Given the description of an element on the screen output the (x, y) to click on. 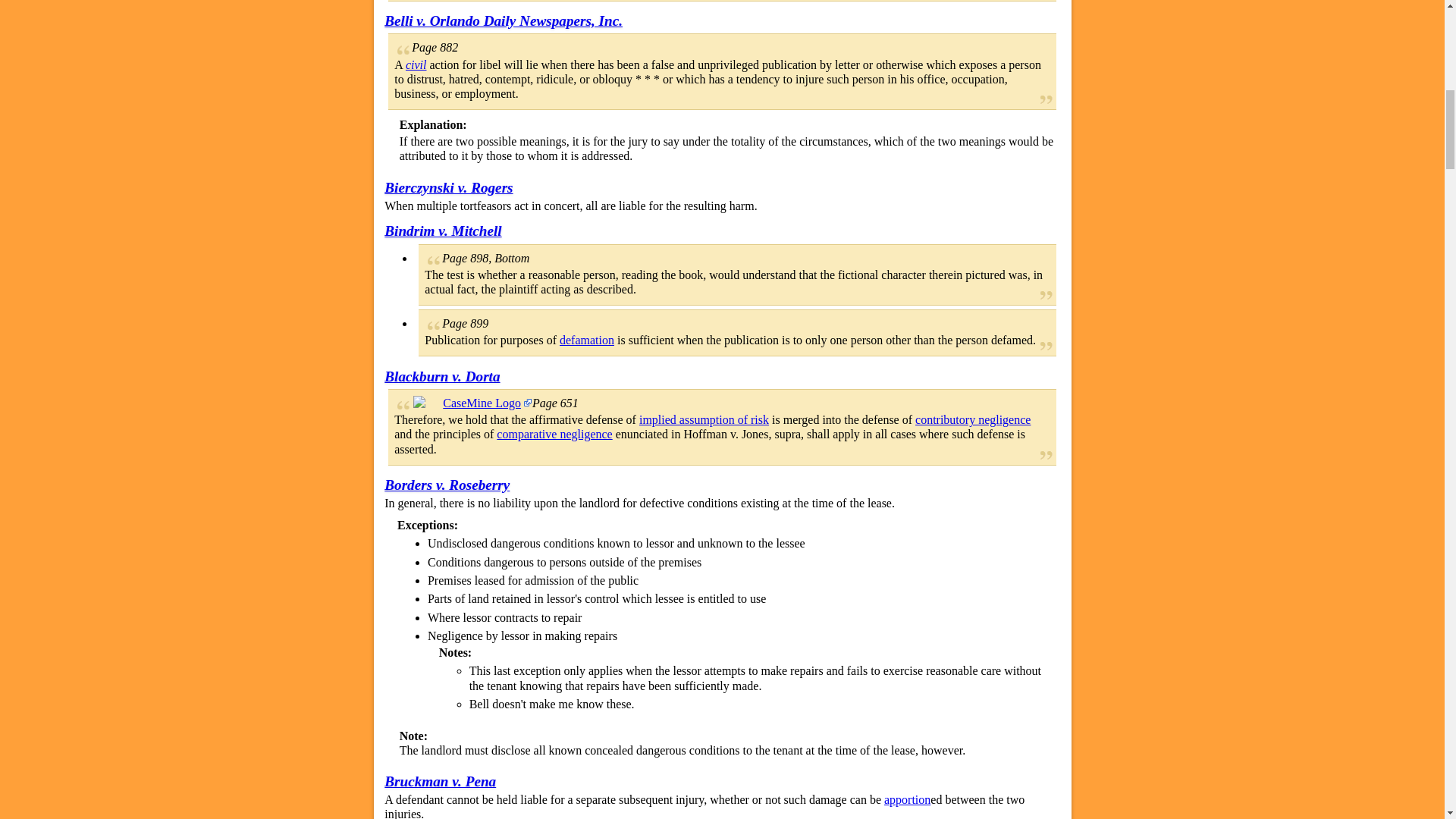
Borders v. Roseberry (446, 484)
View page 293 on CaseMine (472, 402)
apportion (906, 799)
Bruckman v. Pena (440, 781)
contributory negligence (972, 419)
comparative negligence (553, 433)
Bindrim v. Mitchell (442, 230)
civil (416, 64)
Blackburn v. Dorta (441, 376)
defamation (586, 339)
